Given the description of an element on the screen output the (x, y) to click on. 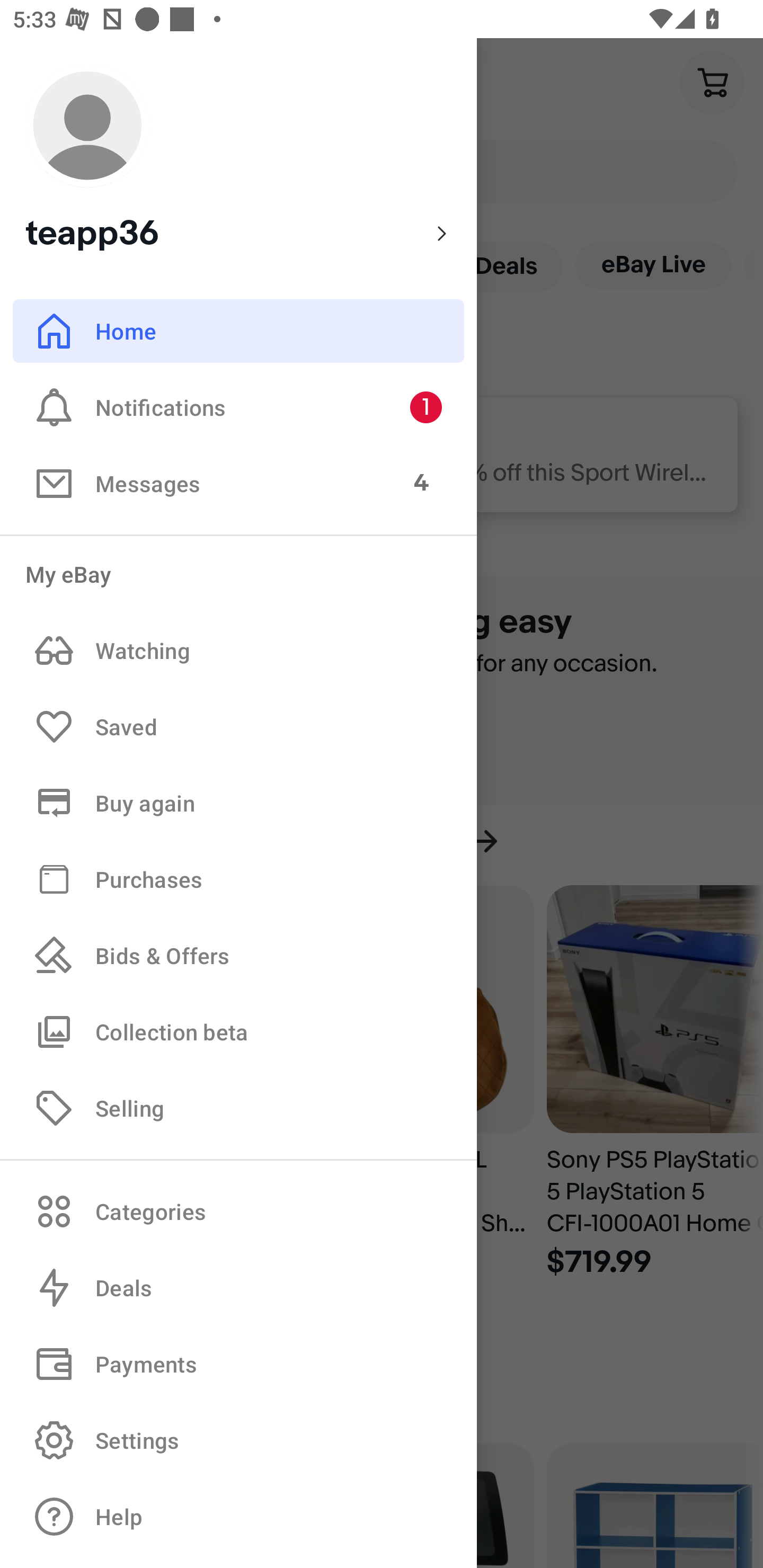
teapp36 (238, 158)
Home (238, 330)
Notifications 1 (238, 406)
Messages 4 (238, 483)
Watching (238, 650)
Saved (238, 726)
Buy again (238, 802)
Purchases (238, 878)
Bids & Offers (238, 955)
Collection beta (238, 1031)
Selling (238, 1107)
Categories (238, 1210)
Deals (238, 1287)
Payments (238, 1363)
Settings (238, 1439)
Help (238, 1516)
